Given the description of an element on the screen output the (x, y) to click on. 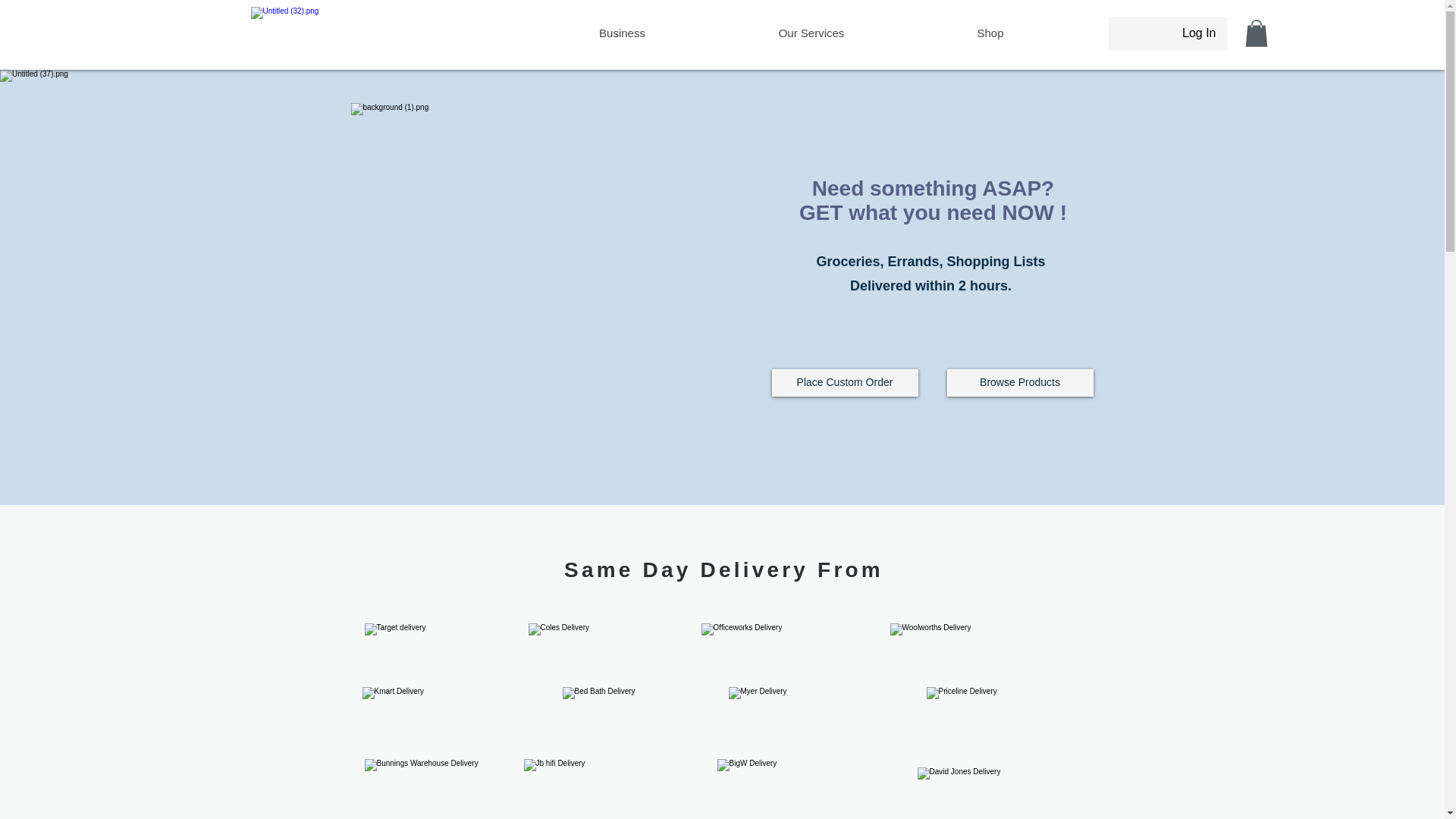
Place Custom Order (844, 382)
Log In (1198, 32)
Our Services (810, 33)
Browse Products (1019, 382)
Business (621, 33)
Shop (989, 33)
